Given the description of an element on the screen output the (x, y) to click on. 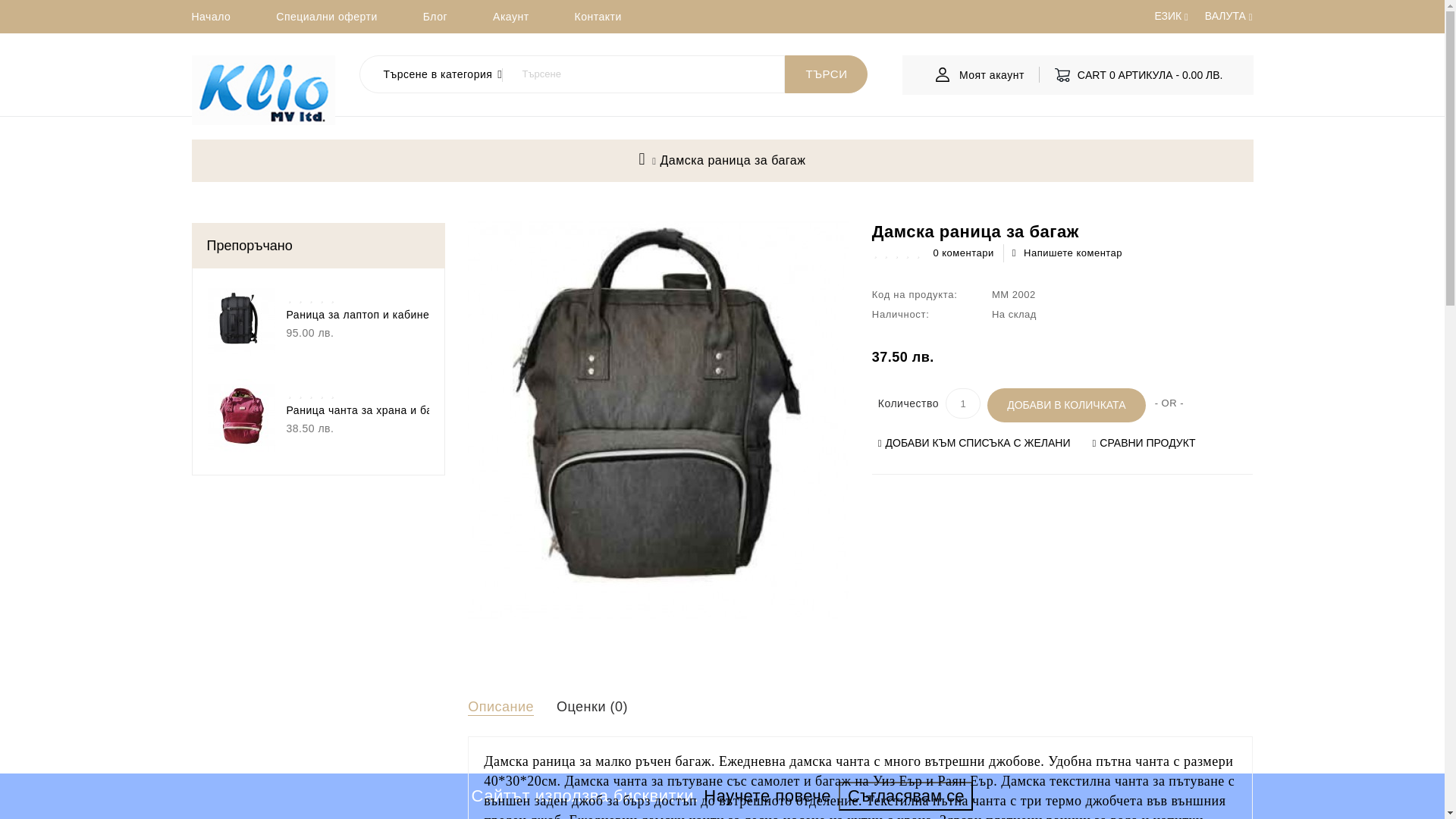
1 (961, 403)
Moeto Magazinche (262, 89)
